Given the description of an element on the screen output the (x, y) to click on. 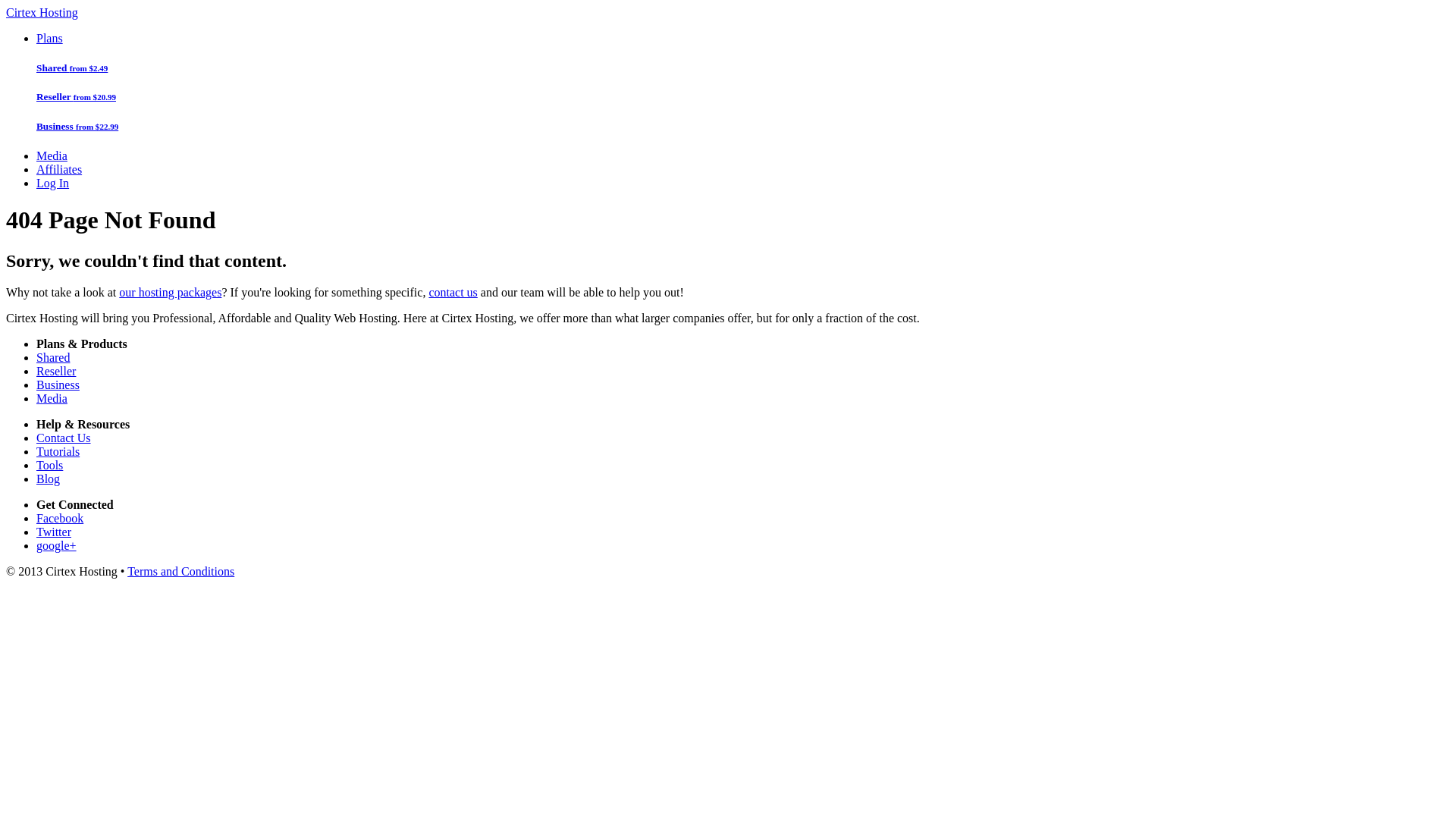
Facebook Element type: text (59, 517)
google+ Element type: text (56, 545)
Twitter Element type: text (53, 531)
Cirtex Hosting Element type: text (42, 12)
Shared from $2.49 Element type: text (742, 68)
Business from $22.99 Element type: text (742, 126)
Tutorials Element type: text (57, 451)
Media Element type: text (51, 155)
our hosting packages Element type: text (170, 291)
Contact Us Element type: text (63, 437)
Shared Element type: text (52, 357)
Blog Element type: text (47, 478)
Terms and Conditions Element type: text (180, 570)
Affiliates Element type: text (58, 169)
Business Element type: text (57, 384)
Plans Element type: text (49, 37)
Media Element type: text (51, 398)
Reseller Element type: text (55, 370)
Log In Element type: text (52, 182)
contact us Element type: text (452, 291)
Tools Element type: text (49, 464)
Reseller from $20.99 Element type: text (742, 97)
